Given the description of an element on the screen output the (x, y) to click on. 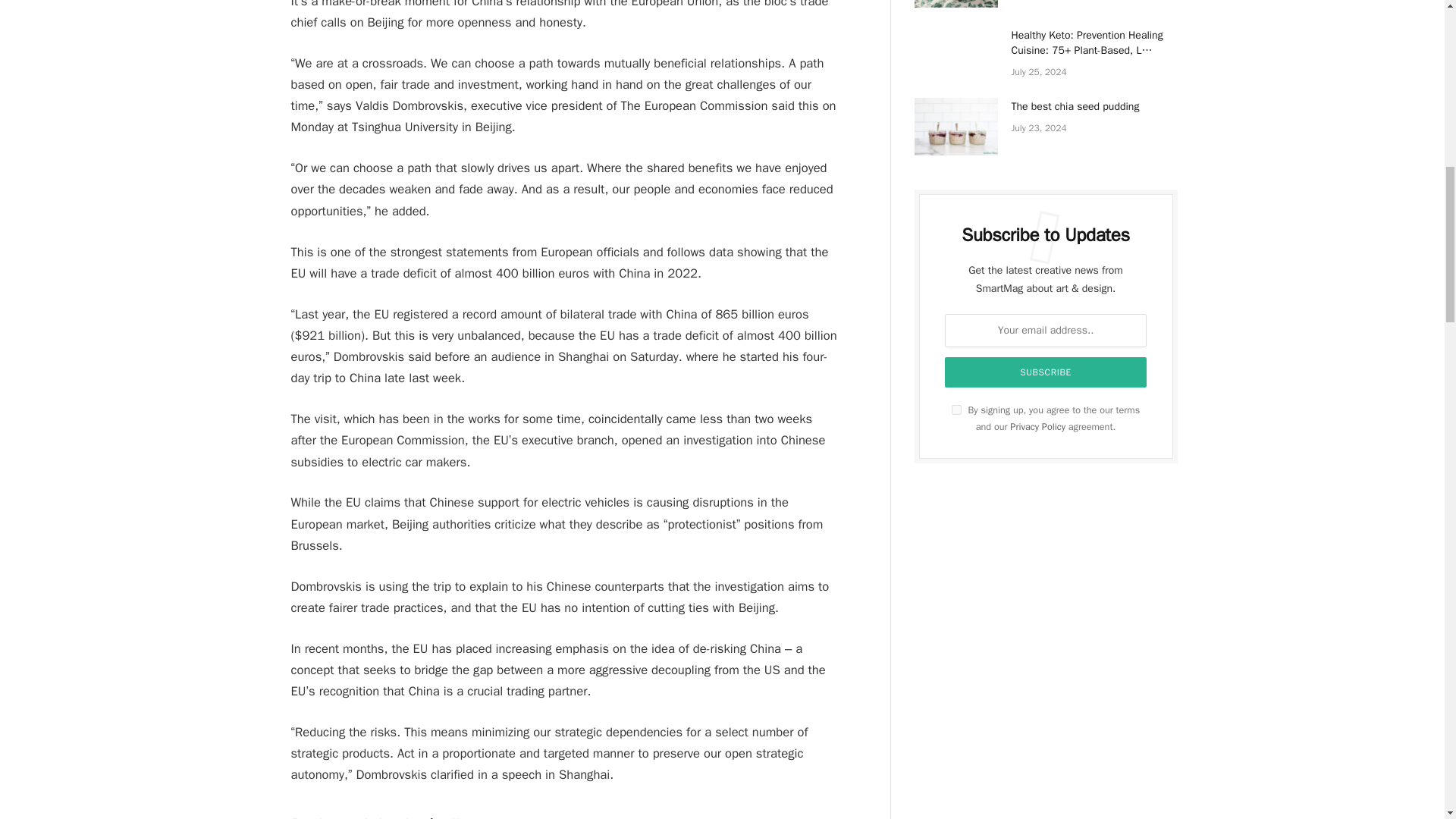
on (956, 409)
Subscribe (1045, 372)
